Given the description of an element on the screen output the (x, y) to click on. 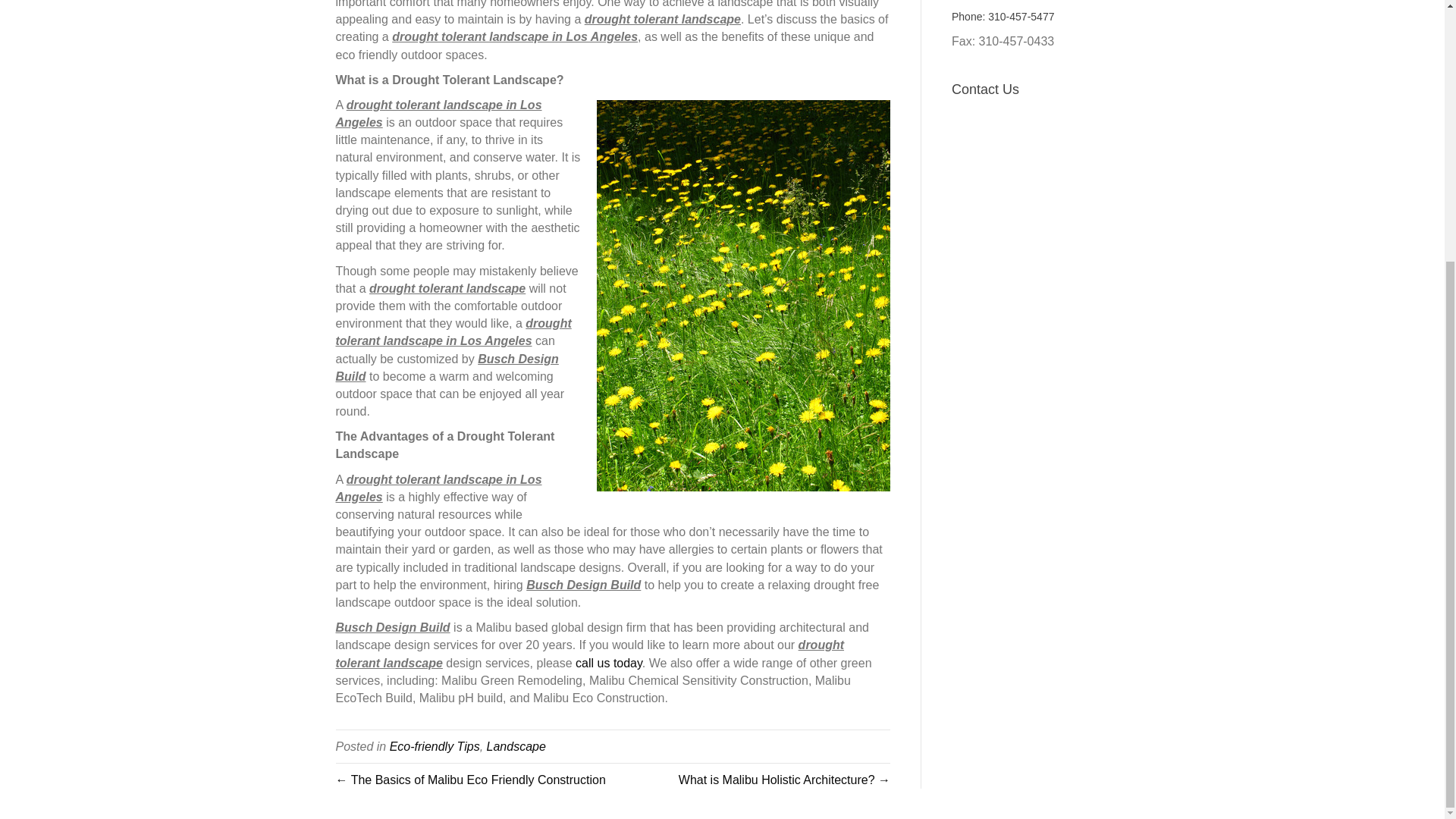
Eco-friendly Tips (435, 746)
call us today (608, 662)
Landscape (516, 746)
